Given the description of an element on the screen output the (x, y) to click on. 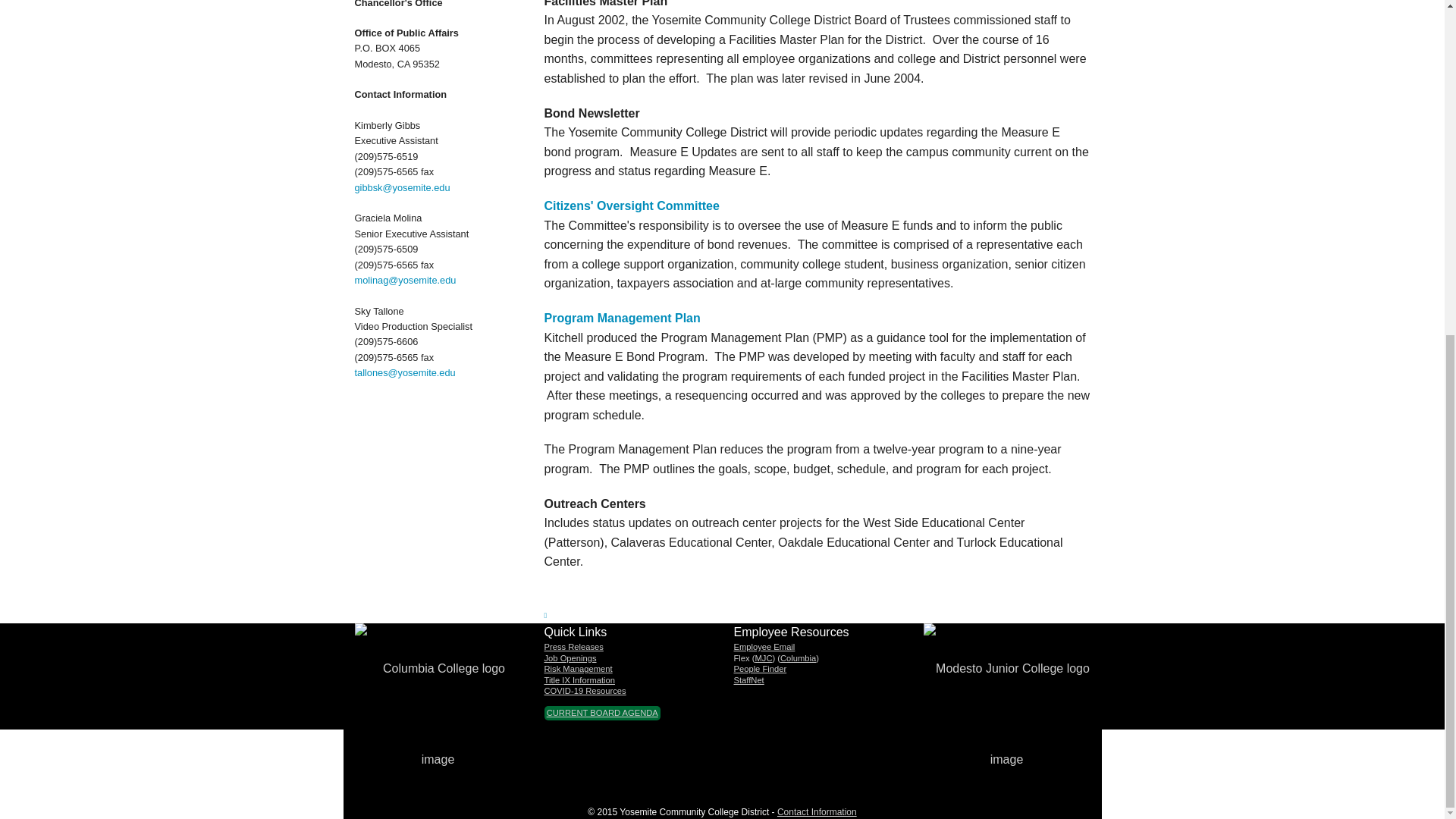
Program Management Plan (622, 318)
COVID-19 Resources (585, 690)
Citizens' Oversight Committee Website (631, 205)
